Given the description of an element on the screen output the (x, y) to click on. 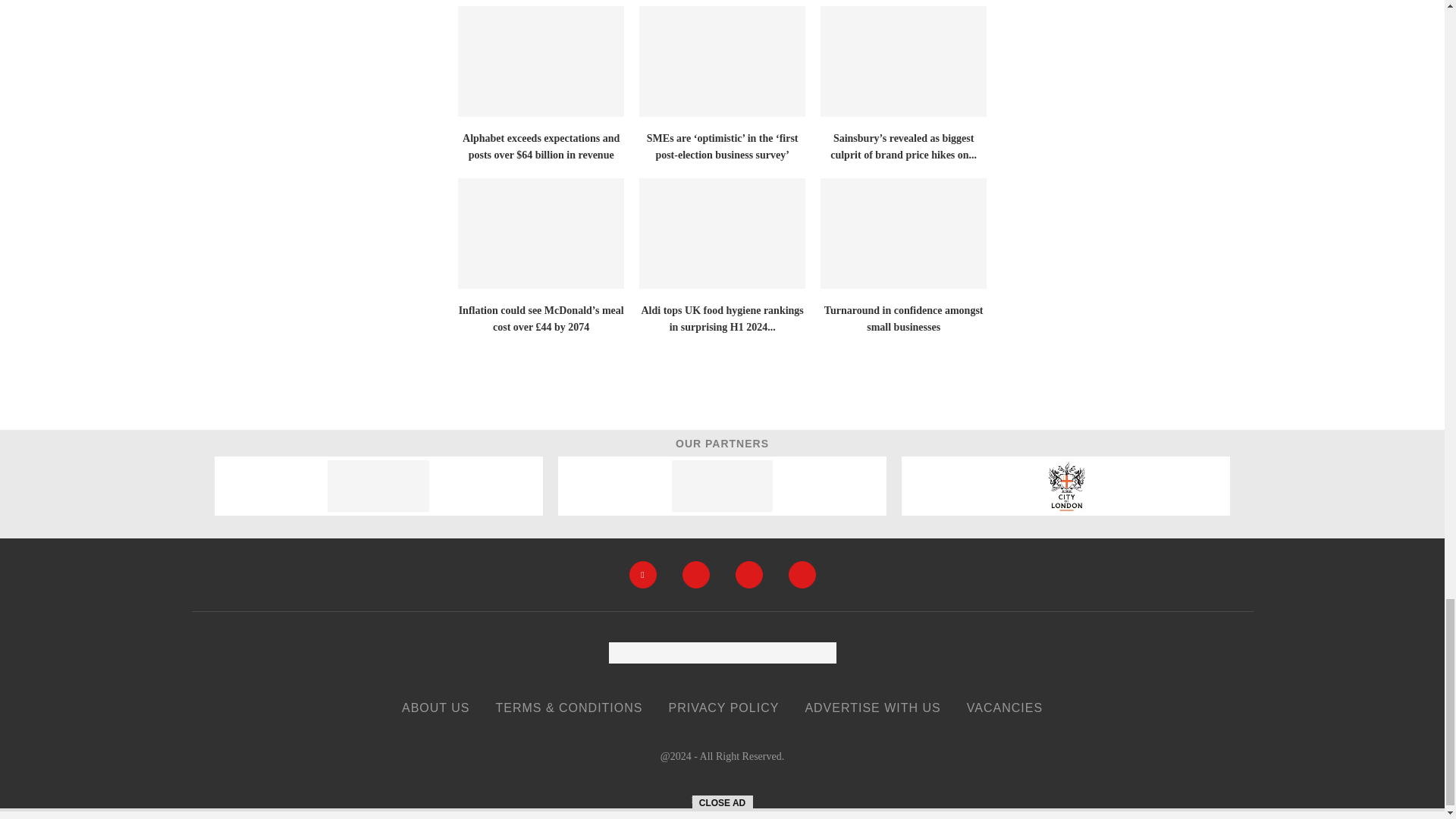
Turnaround in confidence amongst small businesses (904, 233)
